Given the description of an element on the screen output the (x, y) to click on. 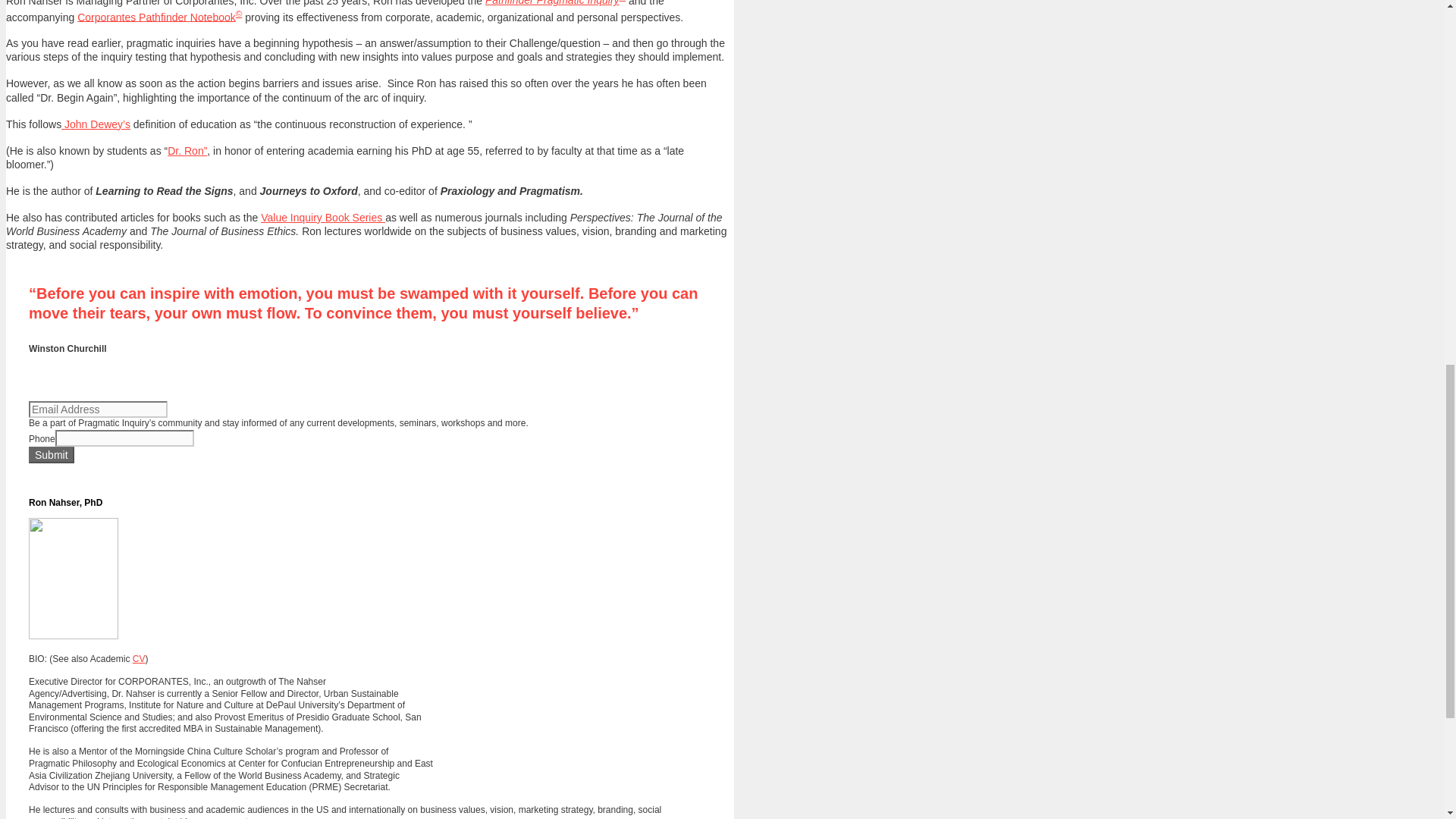
Value Inquiry Book Series (322, 217)
Pathfinder Pragmatic Inquiry (552, 2)
Corporantes Pathfinder Notebook (156, 16)
Submit (51, 454)
CV (138, 658)
